Given the description of an element on the screen output the (x, y) to click on. 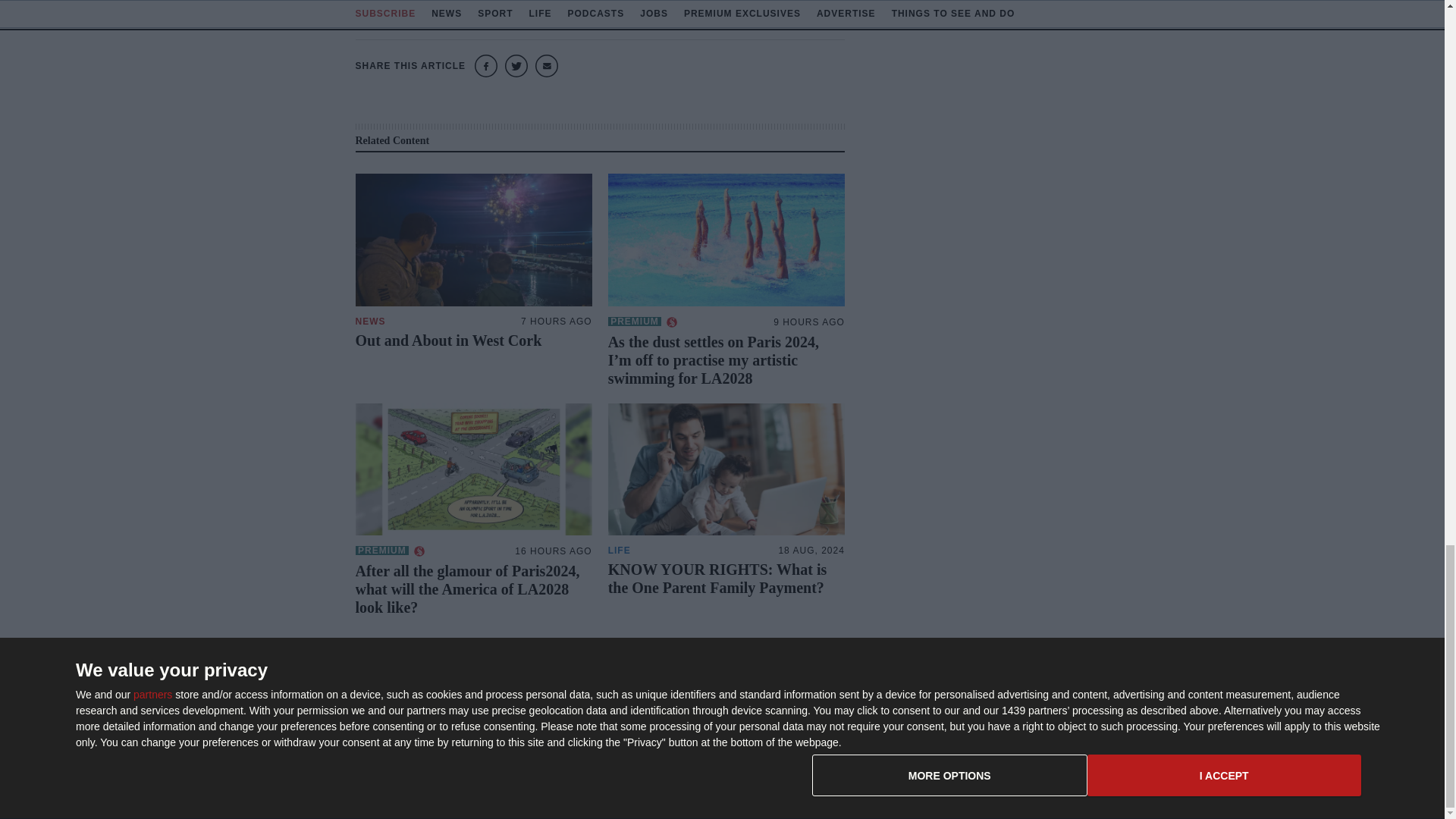
Contact Us (1002, 696)
Comments Policy (1017, 745)
Southern Star Ltd. logo (430, 702)
Learn A Language (864, 769)
ePaper (839, 696)
Archive (839, 745)
Advertise With Us (863, 720)
